Given the description of an element on the screen output the (x, y) to click on. 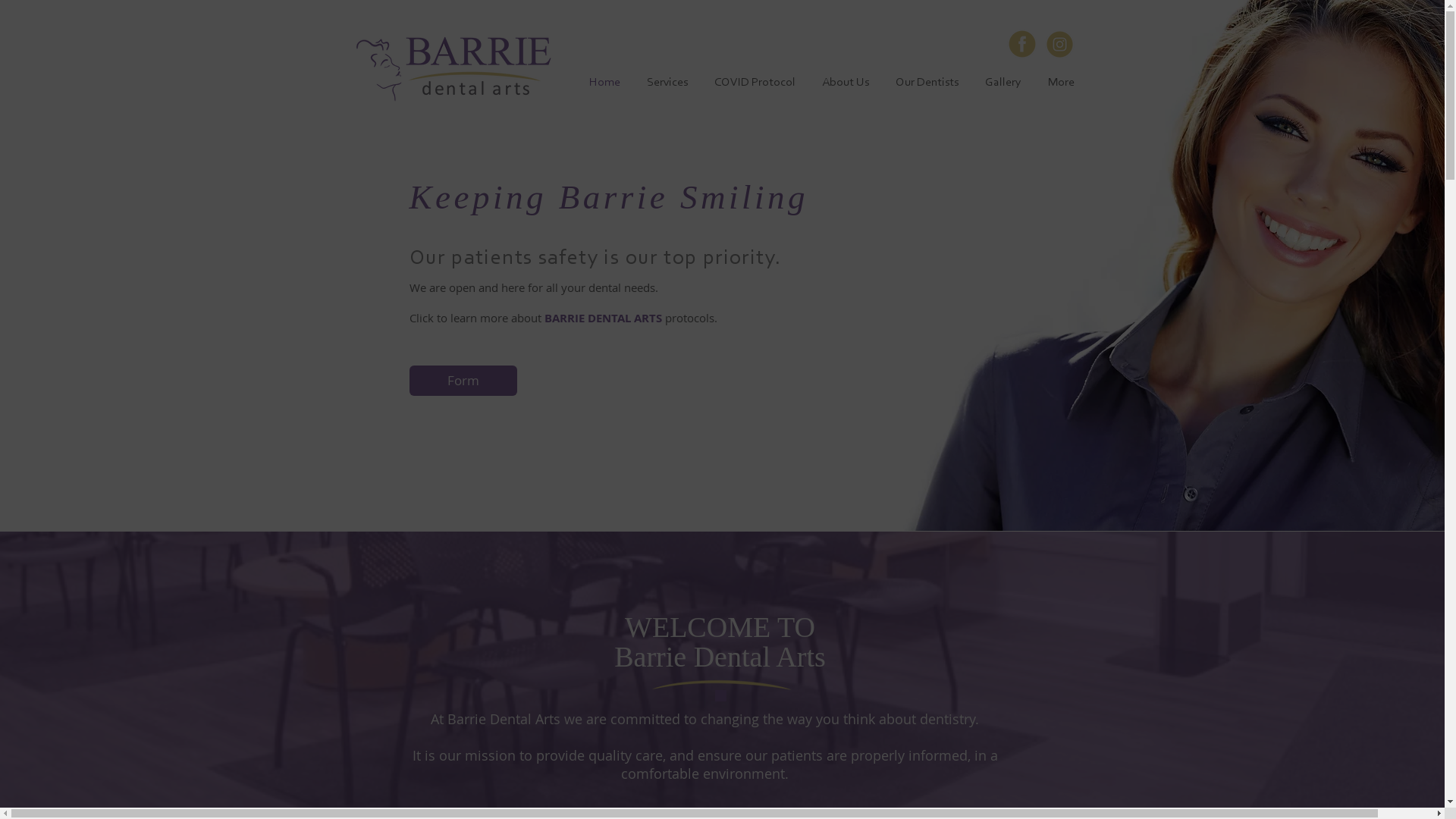
Gallery Element type: text (1003, 82)
About Us Element type: text (844, 82)
Click to learn more about BARRIE DENTAL ARTS protocols. Element type: text (563, 317)
COVID Protocol Element type: text (754, 82)
Form Element type: text (463, 380)
Our Dentists Element type: text (927, 82)
Home Element type: text (604, 82)
Services Element type: text (667, 82)
